Given the description of an element on the screen output the (x, y) to click on. 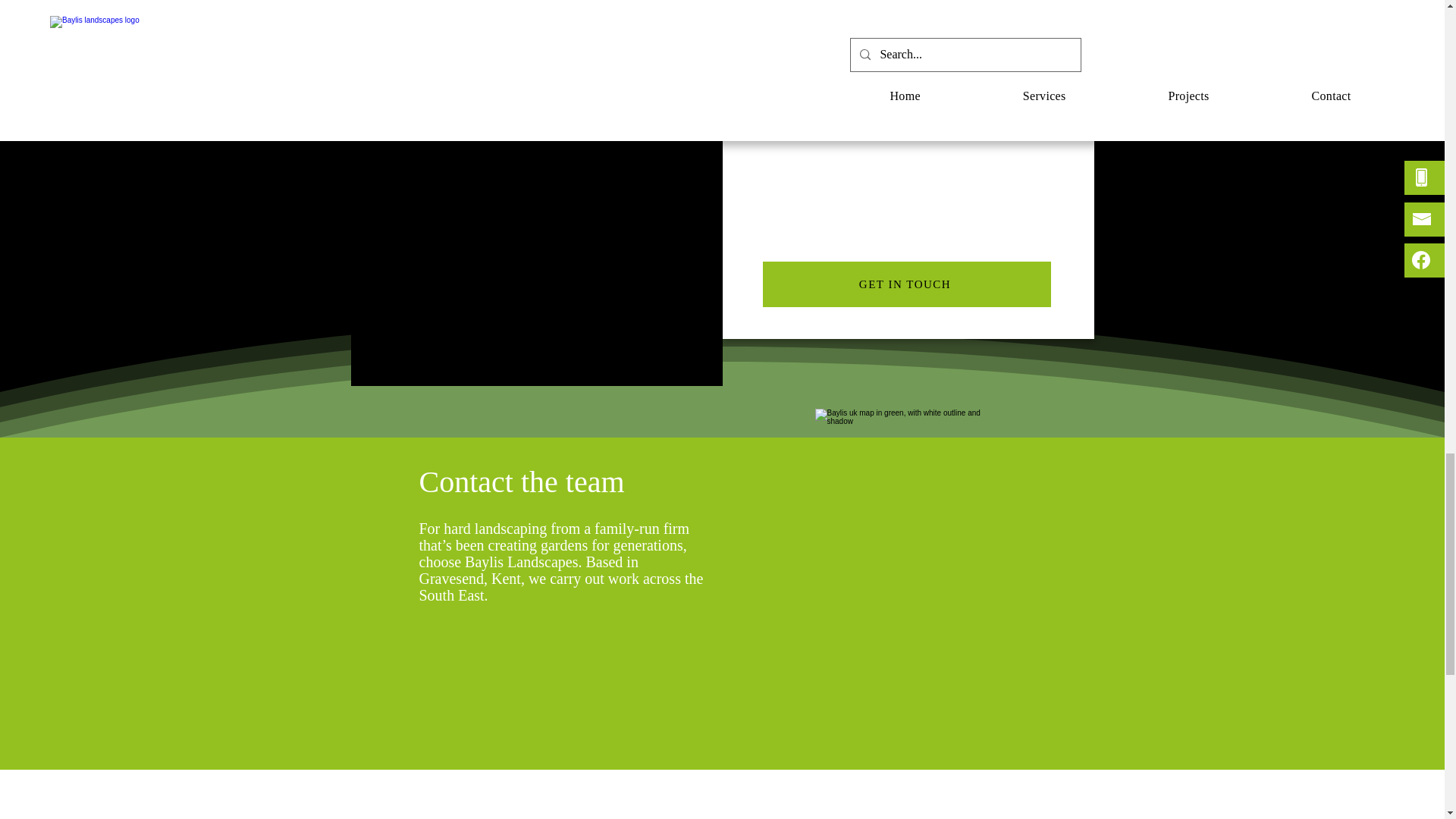
GET IN TOUCH (906, 284)
